Given the description of an element on the screen output the (x, y) to click on. 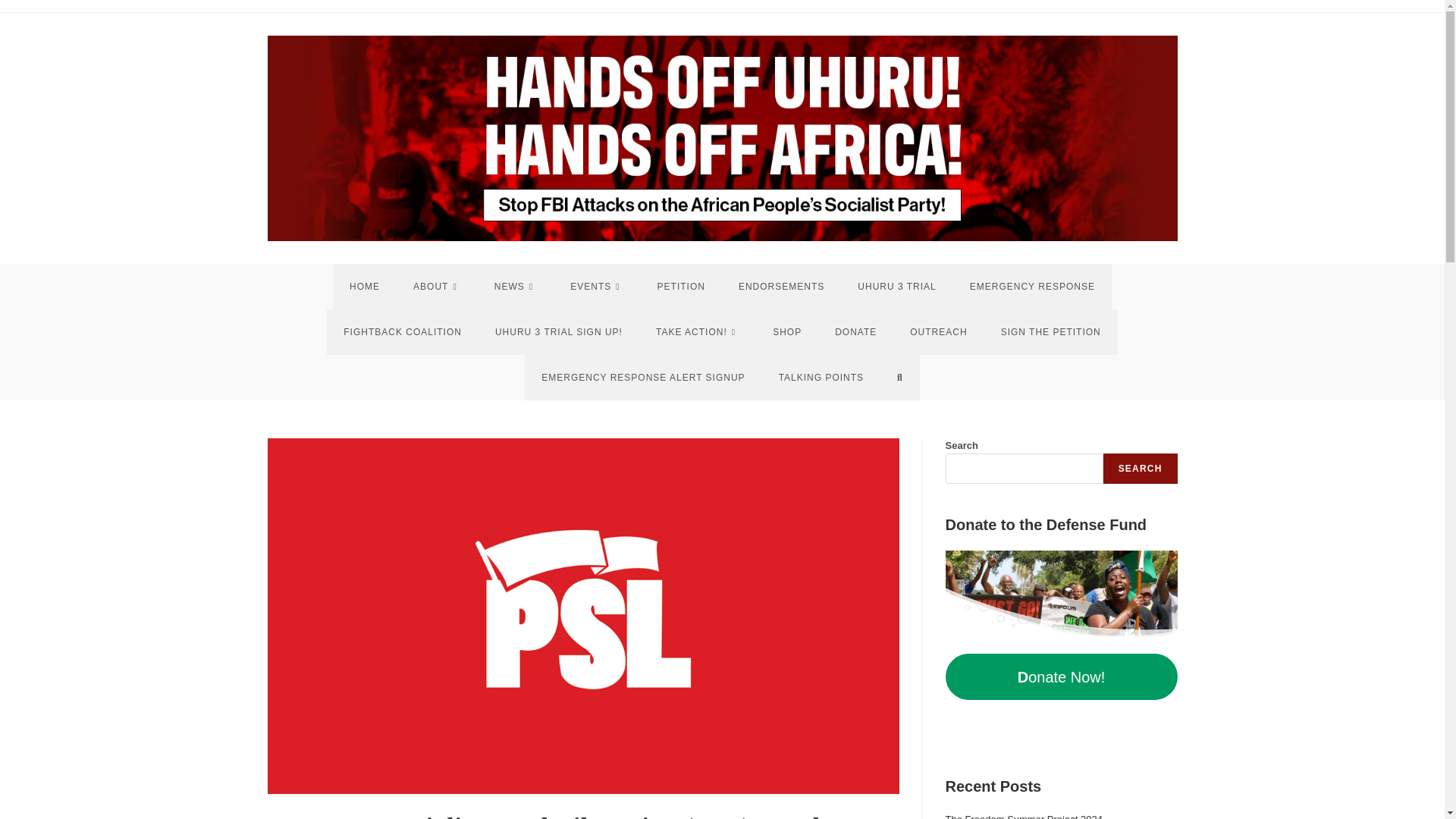
TAKE ACTION! (697, 331)
NEWS (515, 286)
PETITION (681, 286)
HOME (364, 286)
UHURU 3 TRIAL (896, 286)
FIGHTBACK COALITION (402, 331)
UHURU 3 TRIAL SIGN UP! (559, 331)
EVENTS (596, 286)
SHOP (786, 331)
ENDORSEMENTS (781, 286)
